Given the description of an element on the screen output the (x, y) to click on. 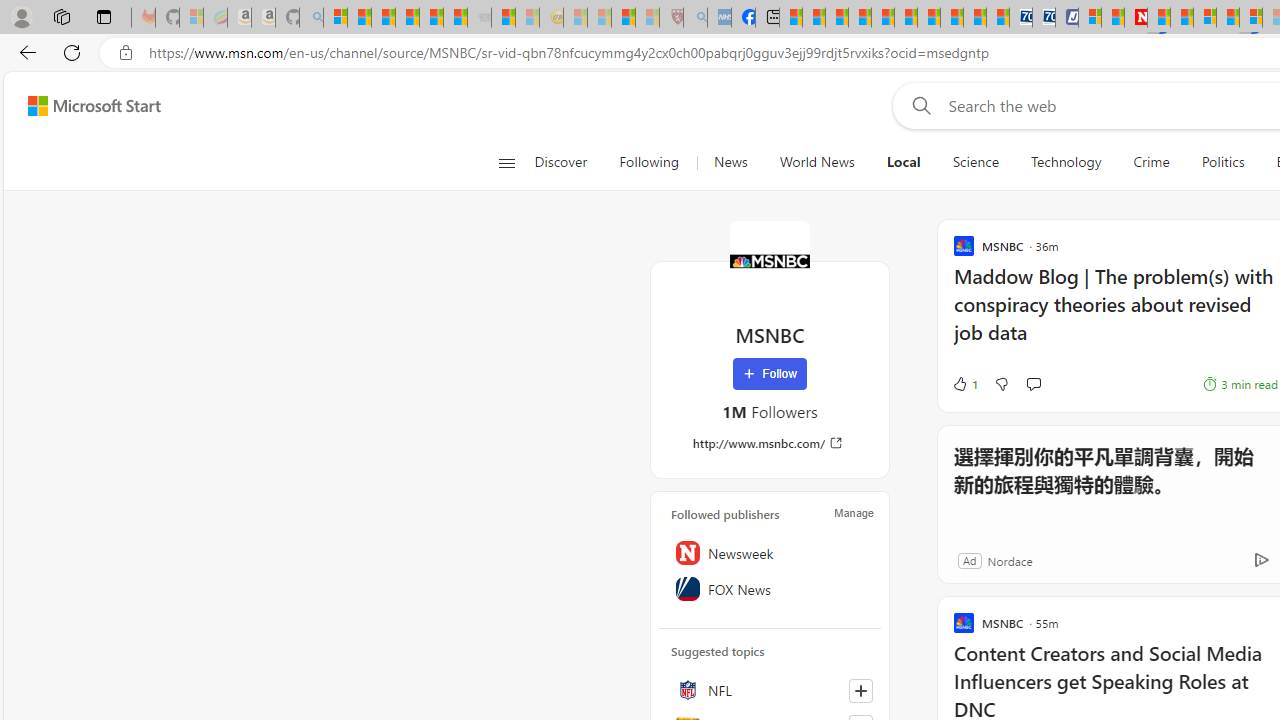
1 Like (964, 384)
NFL (770, 690)
Start the conversation (1033, 383)
Follow (769, 373)
Combat Siege - Sleeping (479, 17)
MSNBC - MSN (790, 17)
Robert H. Shmerling, MD - Harvard Health - Sleeping (671, 17)
http://www.msnbc.com/ (769, 443)
14 Common Myths Debunked By Scientific Facts (1181, 17)
